Given the description of an element on the screen output the (x, y) to click on. 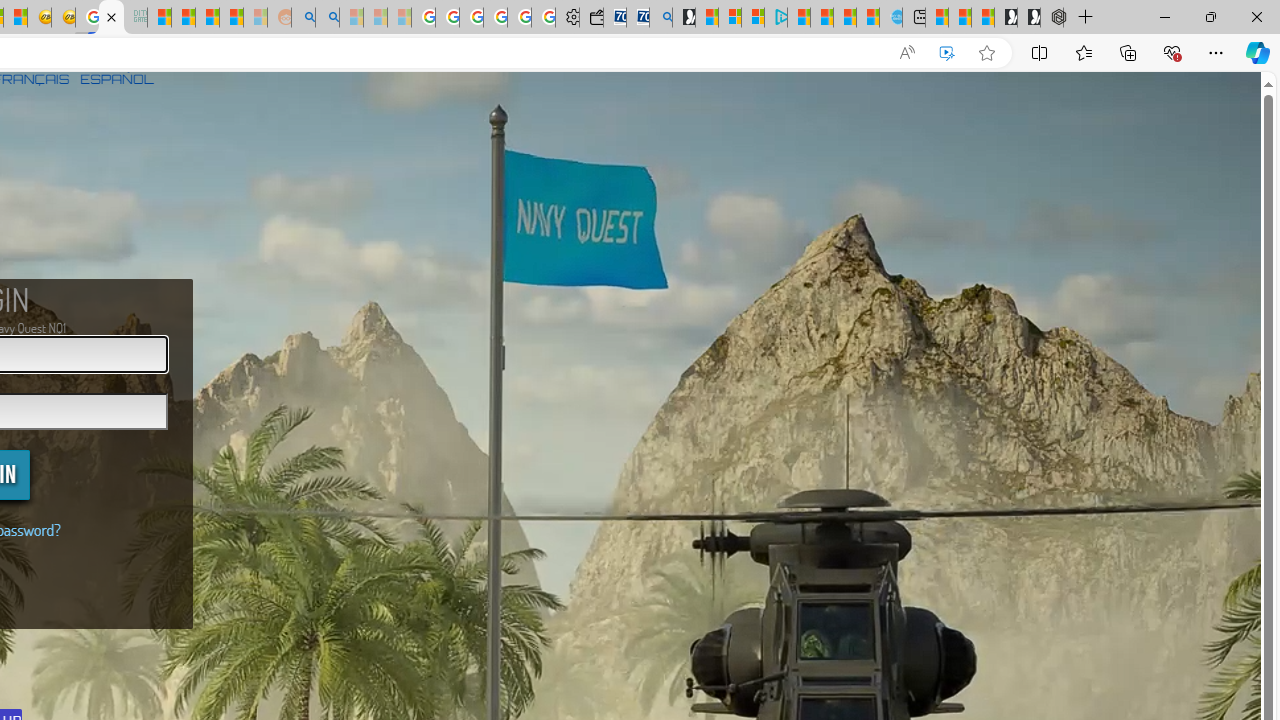
Enhance video (946, 53)
Student Loan Update: Forgiveness Program Ends This Month (231, 17)
Utah sues federal government - Search (327, 17)
